Given the description of an element on the screen output the (x, y) to click on. 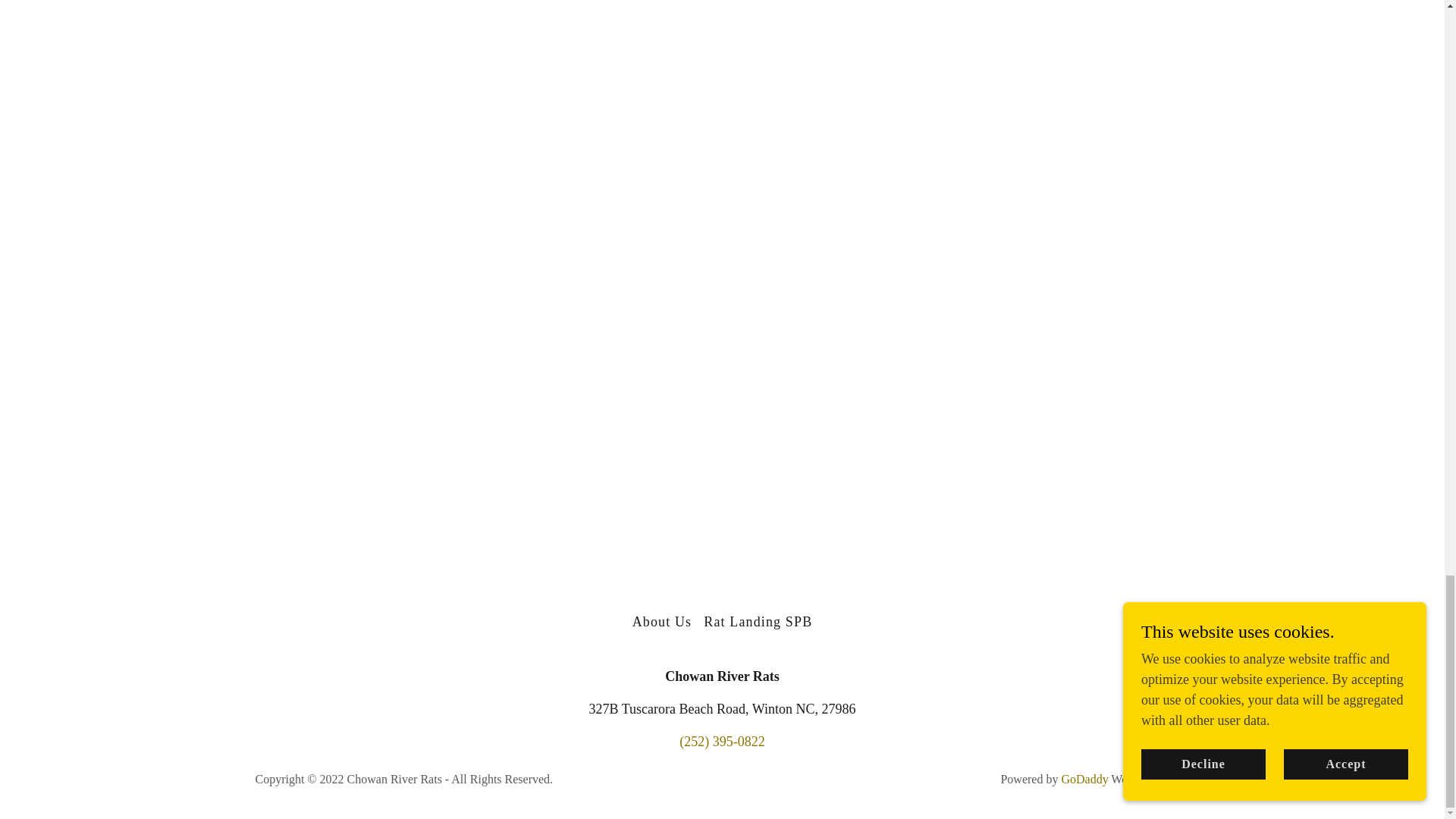
About Us (662, 622)
GoDaddy (1084, 779)
Rat Landing SPB (757, 622)
